Given the description of an element on the screen output the (x, y) to click on. 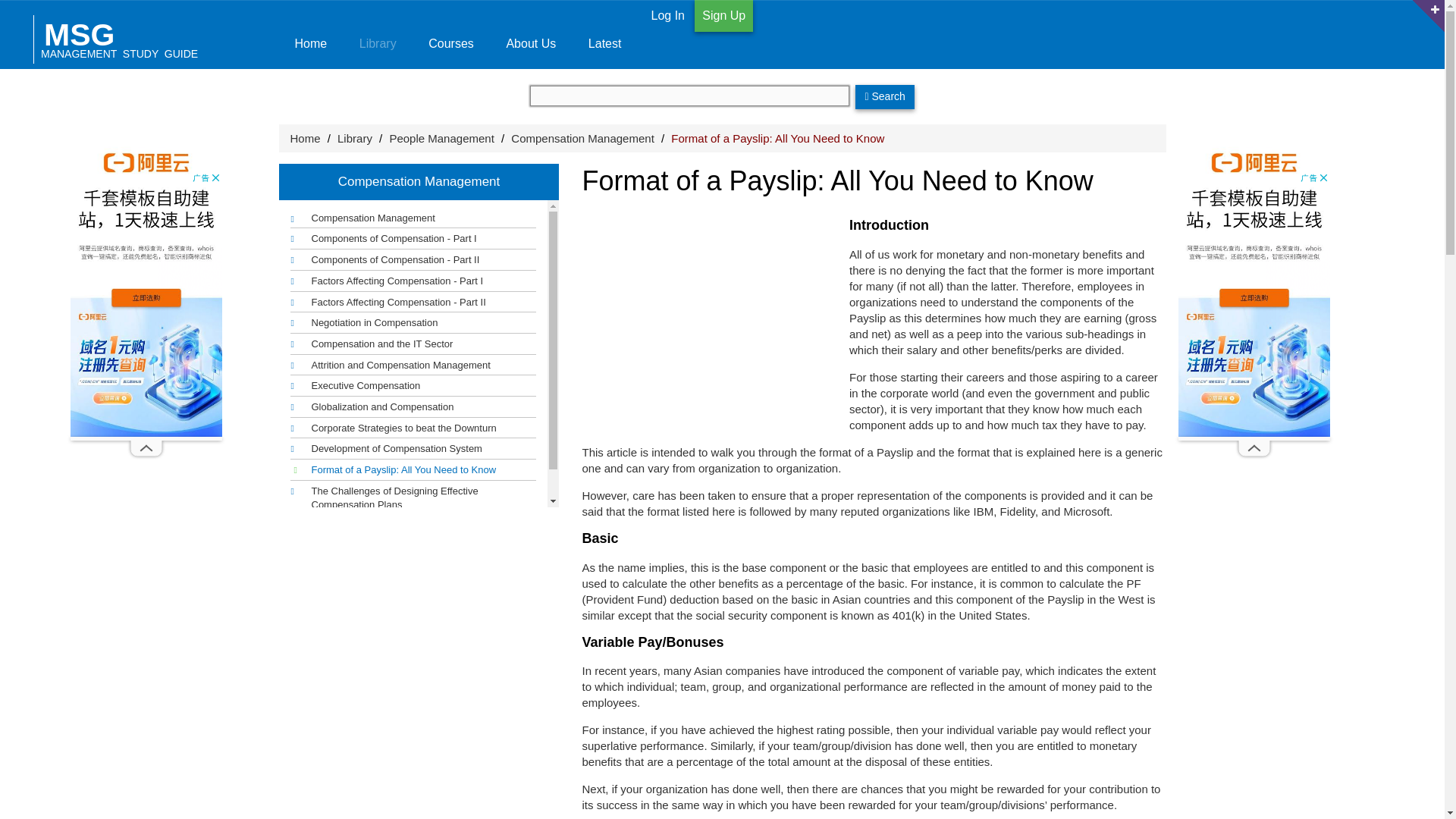
Compensation Management (361, 220)
This page contains information on Executive Compensation (354, 386)
Home (310, 34)
Sign Up (723, 15)
Library (377, 34)
Latest (604, 34)
Library (354, 137)
Sign Up (723, 15)
